Given the description of an element on the screen output the (x, y) to click on. 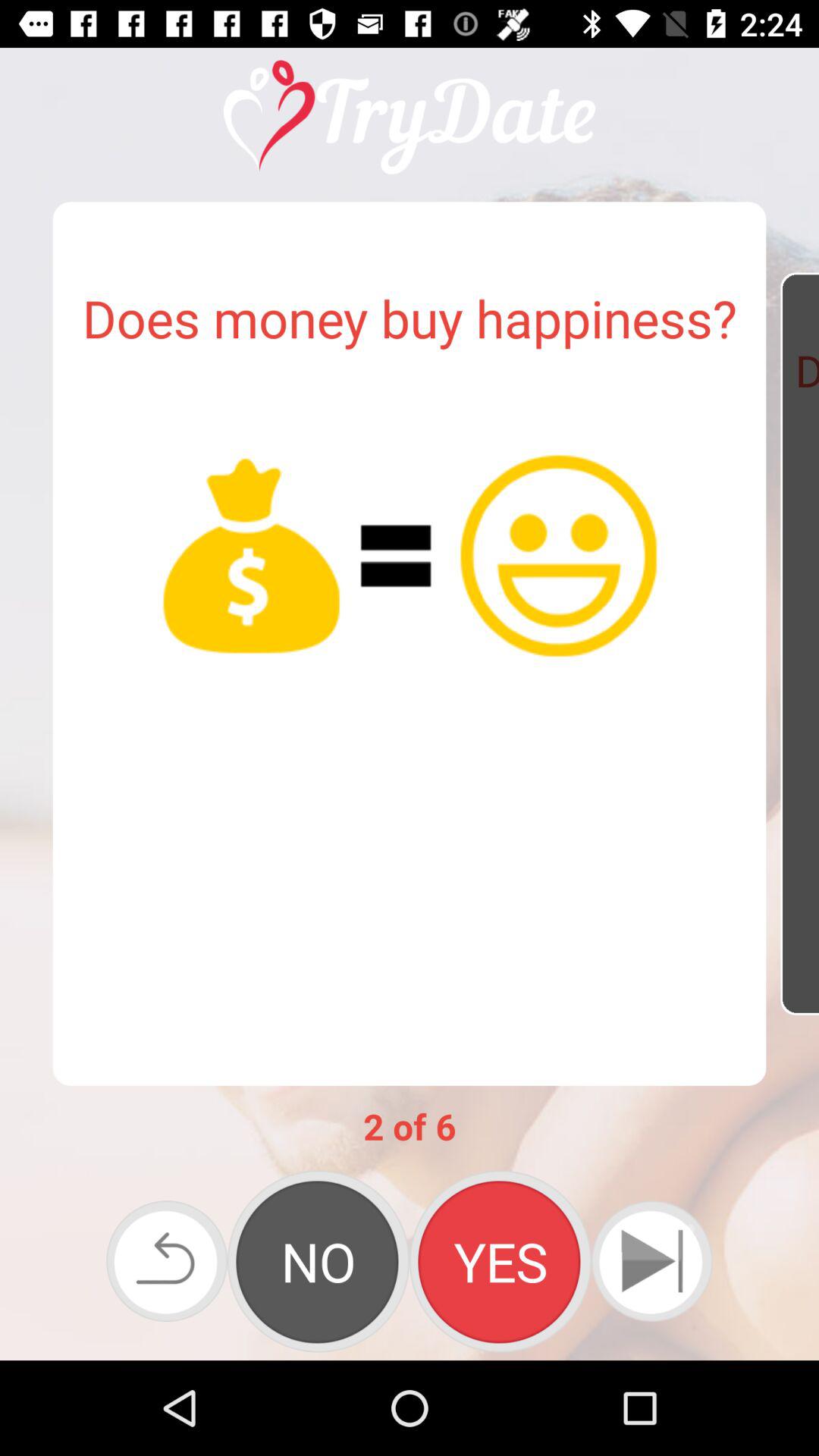
turn on icon below 2 of 6 app (500, 1261)
